Given the description of an element on the screen output the (x, y) to click on. 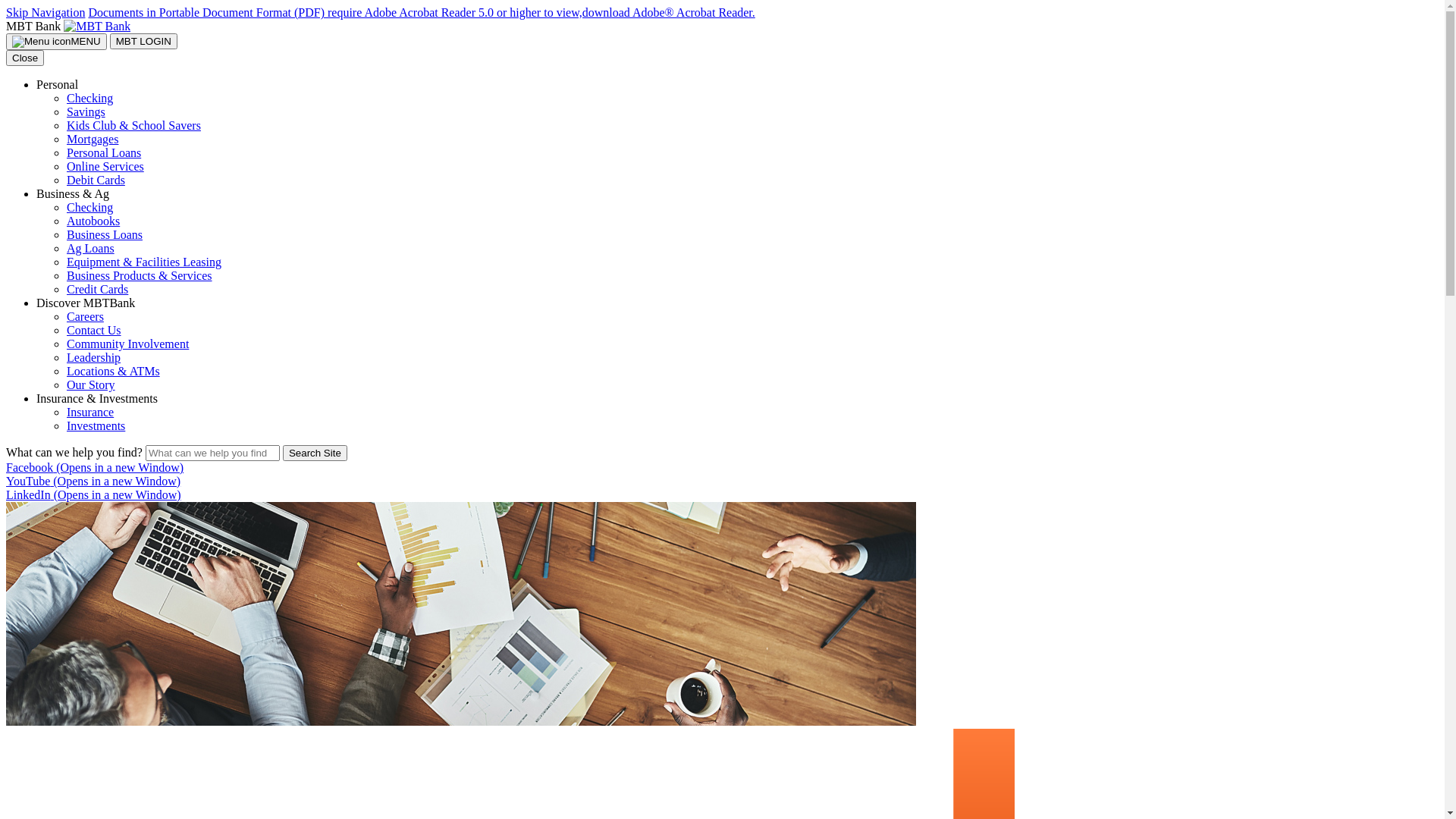
Business Products & Services Element type: text (139, 275)
Close Element type: text (24, 57)
Autobooks Element type: text (92, 220)
MBT Bank, Clear Lake, IA Element type: hover (96, 25)
Locations & ATMs Element type: text (113, 370)
Ag Loans Element type: text (90, 247)
Leadership Element type: text (93, 357)
YouTube (Opens in a new Window) Element type: text (93, 480)
Online Services Element type: text (105, 166)
Savings Element type: text (85, 111)
Contact Us Element type: text (93, 329)
Checking Element type: text (89, 206)
Credit Cards Element type: text (97, 288)
Facebook (Opens in a new Window) Element type: text (94, 467)
Our Story Element type: text (90, 384)
Kids Club & School Savers Element type: text (133, 125)
LinkedIn (Opens in a new Window) Element type: text (93, 494)
Business Loans Element type: text (104, 234)
MENU Element type: text (56, 41)
Debit Cards Element type: text (95, 179)
MBT LOGIN Element type: text (143, 41)
Community Involvement Element type: text (127, 343)
Careers Element type: text (84, 316)
Equipment & Facilities Leasing Element type: text (143, 261)
Search Site Element type: text (314, 453)
Insurance Element type: text (89, 411)
Checking Element type: text (89, 97)
Personal Loans Element type: text (103, 152)
Skip Navigation Element type: text (45, 12)
Mortgages Element type: text (92, 138)
Investments Element type: text (95, 425)
